Given the description of an element on the screen output the (x, y) to click on. 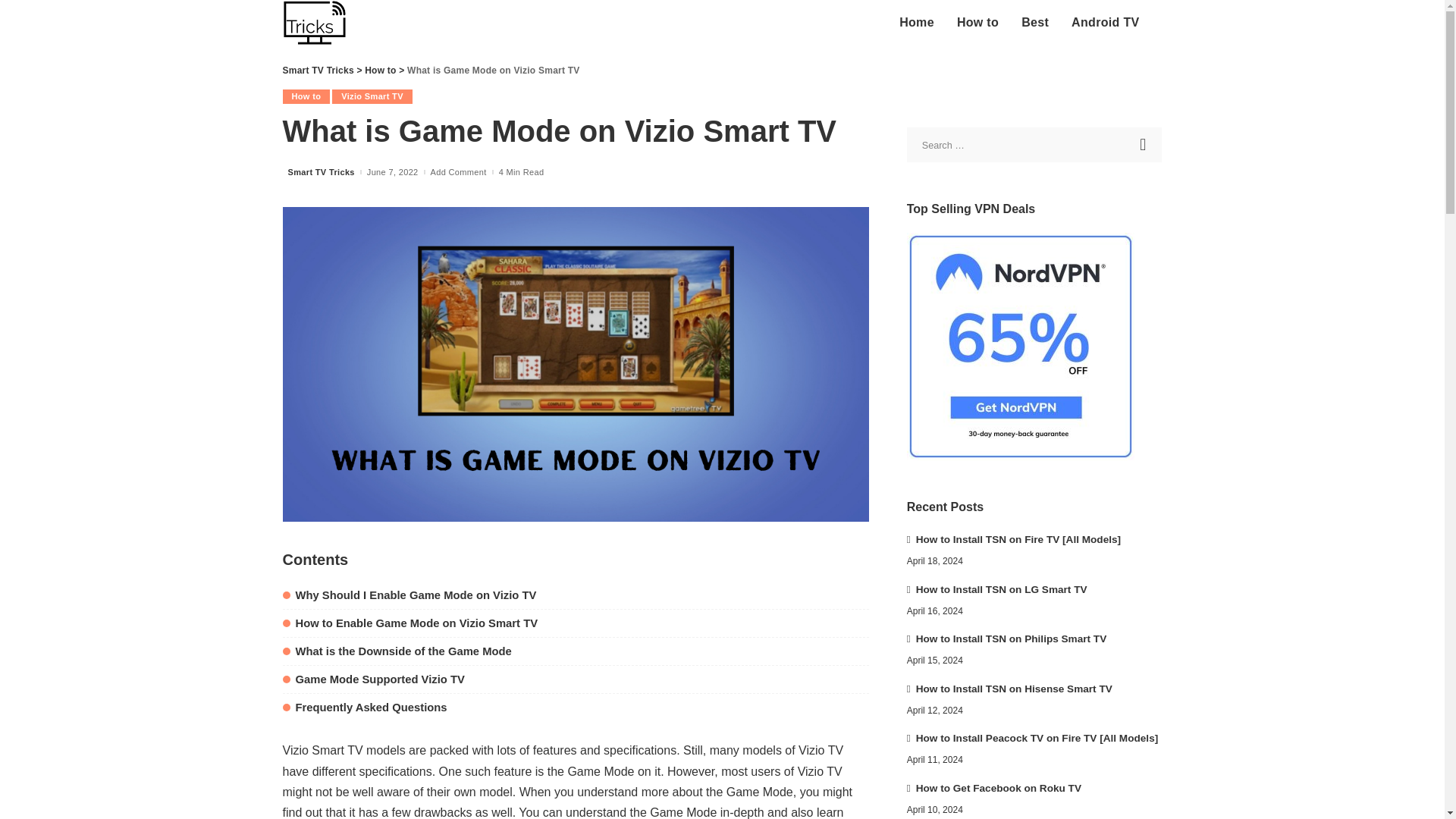
How to (977, 22)
Search (1143, 144)
Android TV (1104, 22)
Frequently Asked Questions (364, 707)
Smart TV Tricks (314, 22)
What is the Downside of the Game Mode (396, 651)
How to Enable Game Mode on Vizio Smart TV (409, 623)
Home (916, 22)
Add Comment (458, 172)
